Given the description of an element on the screen output the (x, y) to click on. 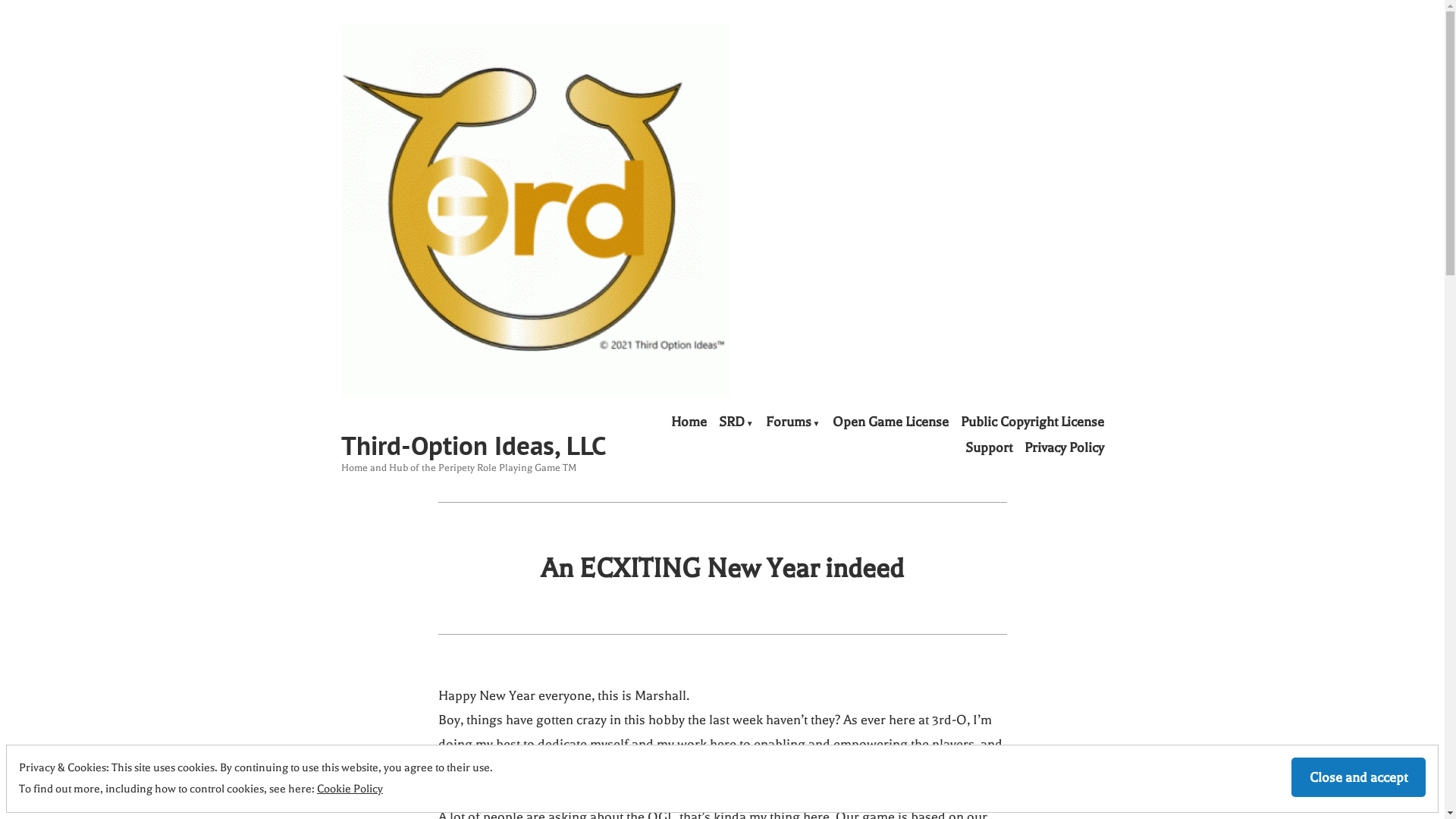
Privacy Policy Element type: text (1063, 446)
Forums Element type: text (792, 422)
Support Element type: text (987, 446)
Open Game License Element type: text (890, 422)
Cookie Policy Element type: text (349, 788)
Third-Option Ideas, LLC Element type: text (473, 444)
Home Element type: text (688, 422)
Close and accept Element type: text (1358, 777)
Public Copyright License Element type: text (1031, 422)
SRD Element type: text (735, 422)
